Given the description of an element on the screen output the (x, y) to click on. 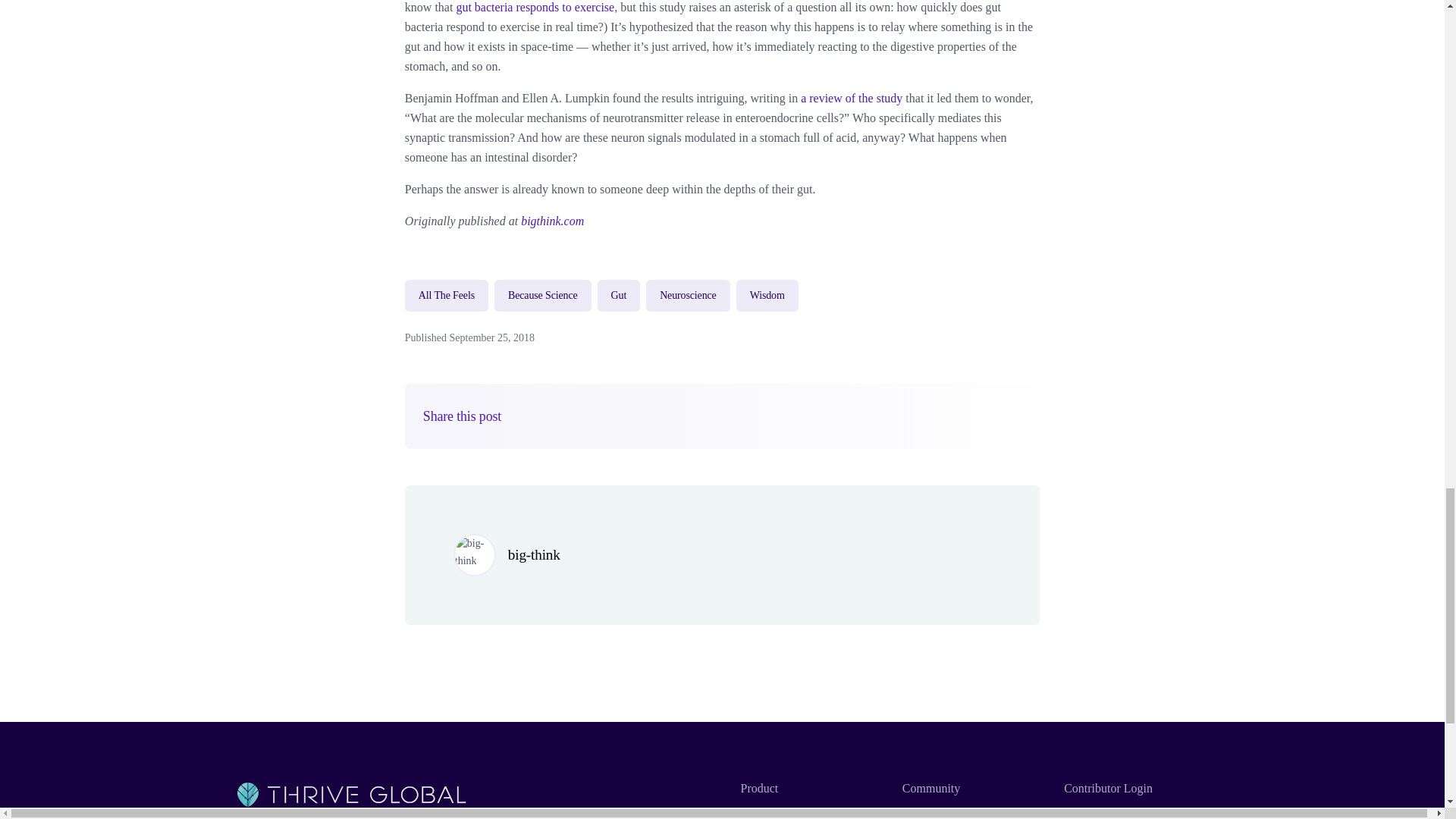
big-think (534, 554)
